Given the description of an element on the screen output the (x, y) to click on. 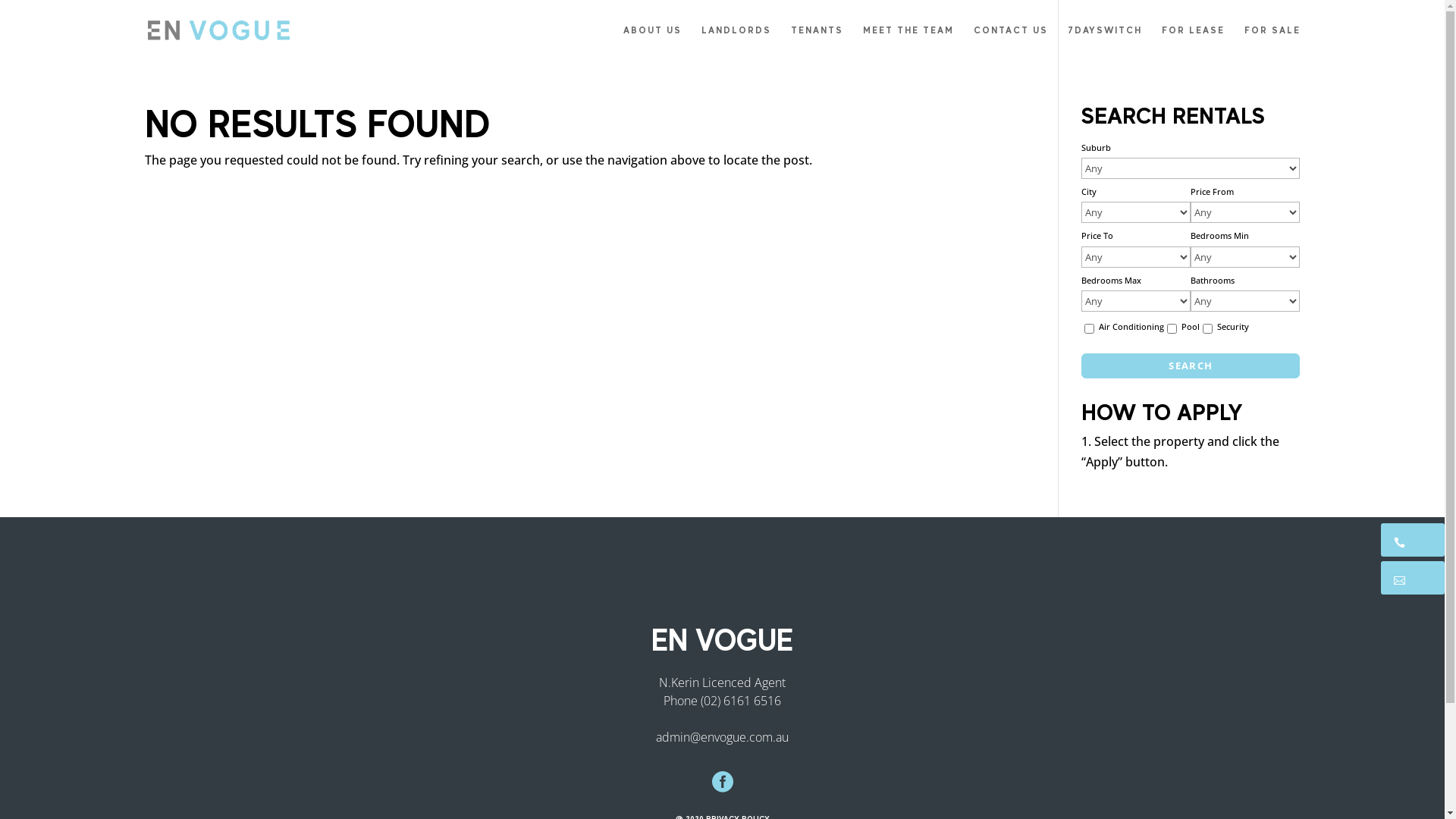
(02) 6161 6516 Element type: text (740, 699)
Search Element type: text (1190, 365)
TENANTS Element type: text (816, 42)
MEET THE TEAM Element type: text (907, 42)
ABOUT US Element type: text (652, 42)
CONTACT US Element type: text (1010, 42)
FOR LEASE Element type: text (1192, 42)
7DAYSWITCH Element type: text (1104, 42)
FOR SALE Element type: text (1271, 42)
LANDLORDS Element type: text (735, 42)
admin@envogue.com.au Element type: text (721, 736)
